Given the description of an element on the screen output the (x, y) to click on. 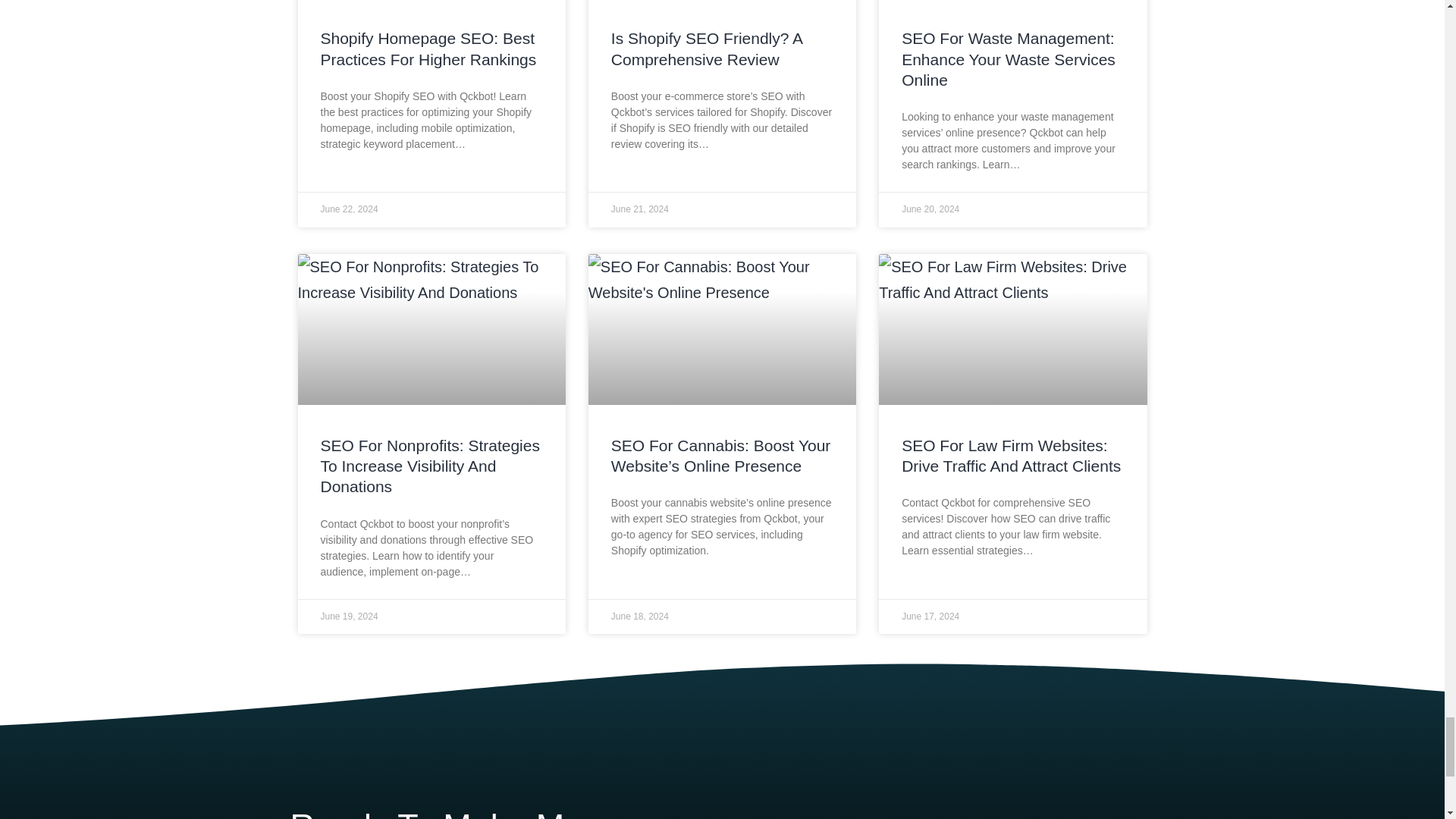
SEO For Law Firm Websites: Drive Traffic And Attract Clients (1011, 455)
Shopify Homepage SEO: Best Practices For Higher Rankings (427, 48)
Is Shopify SEO Friendly? A Comprehensive Review (706, 48)
SEO For Waste Management: Enhance Your Waste Services Online (1008, 58)
